Given the description of an element on the screen output the (x, y) to click on. 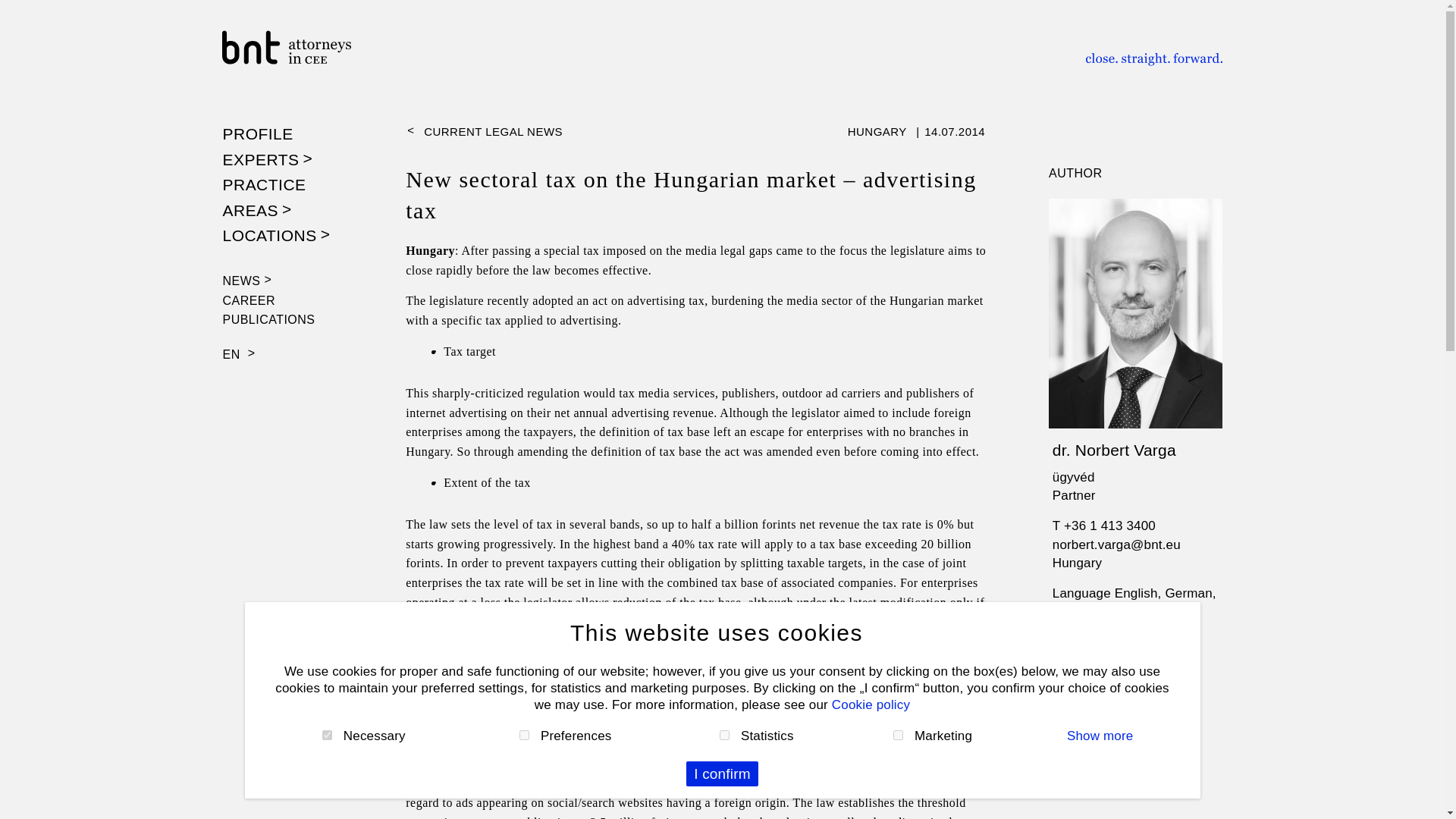
dr. Norbert Varga (1135, 449)
on (326, 735)
bnt attorneys in CEE (309, 47)
on (897, 735)
on (524, 735)
Current Legal news (699, 131)
PROFILE (258, 133)
on (724, 735)
